Given the description of an element on the screen output the (x, y) to click on. 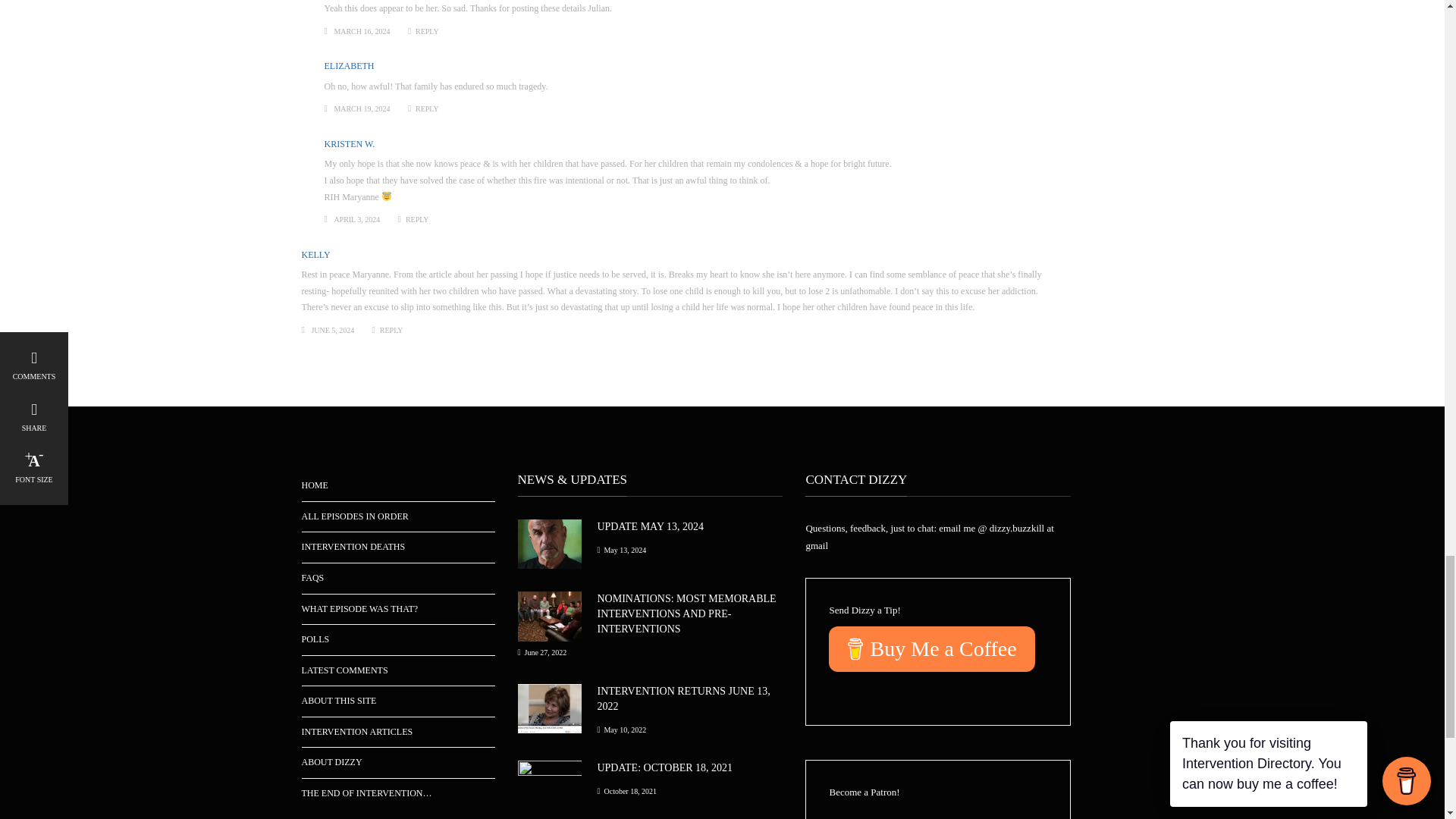
Update May 13, 2024 (548, 542)
Intervention Returns June 13, 2022 (548, 706)
Intervention Returns June 13, 2022 (683, 698)
Update May 13, 2024 (649, 526)
